Given the description of an element on the screen output the (x, y) to click on. 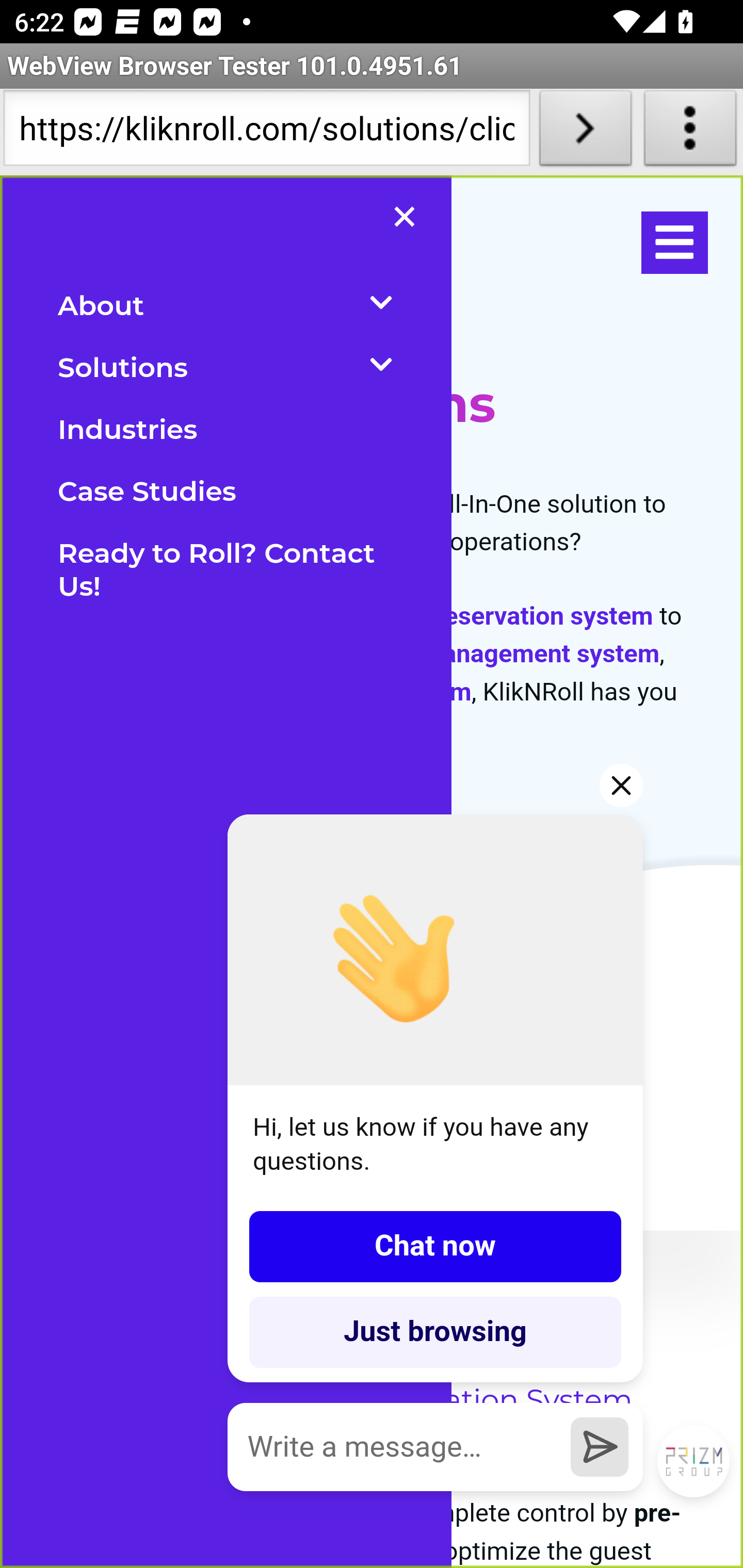
Load URL (585, 132)
About WebView (690, 132)
× (404, 221)
 (673, 242)
Hide greeting (621, 785)
Chat now (435, 1246)
Just browsing (435, 1331)
Send a message (600, 1446)
Open LiveChat chat widget (694, 1462)
